Given the description of an element on the screen output the (x, y) to click on. 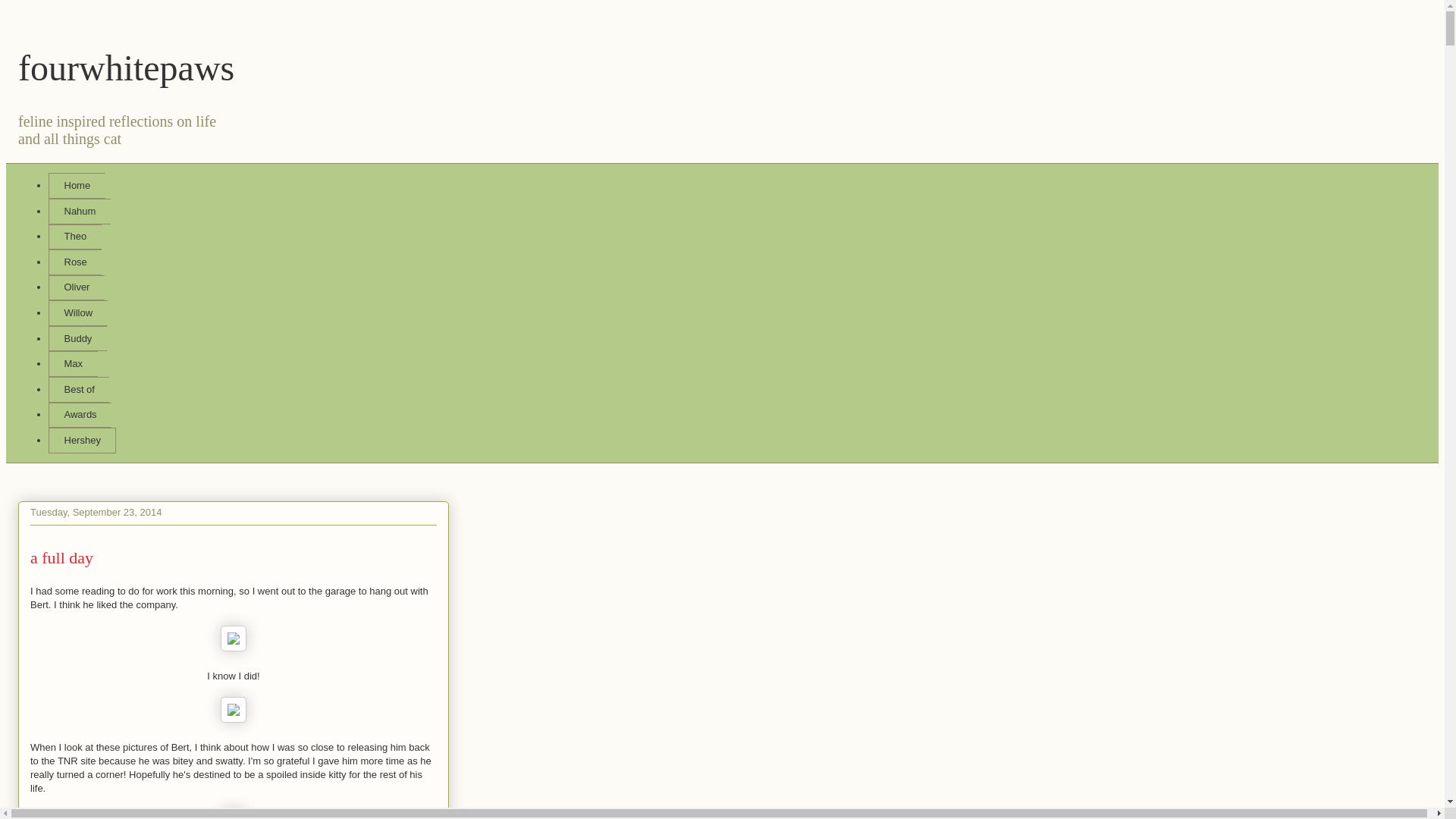
Buddy (77, 338)
Nahum (79, 211)
Theo (74, 237)
Willow (77, 312)
Home (76, 185)
Rose (74, 262)
Oliver (76, 288)
Best of (78, 389)
Awards (80, 415)
a full day (61, 557)
Max (72, 363)
Hershey (82, 440)
fourwhitepaws (125, 67)
